Given the description of an element on the screen output the (x, y) to click on. 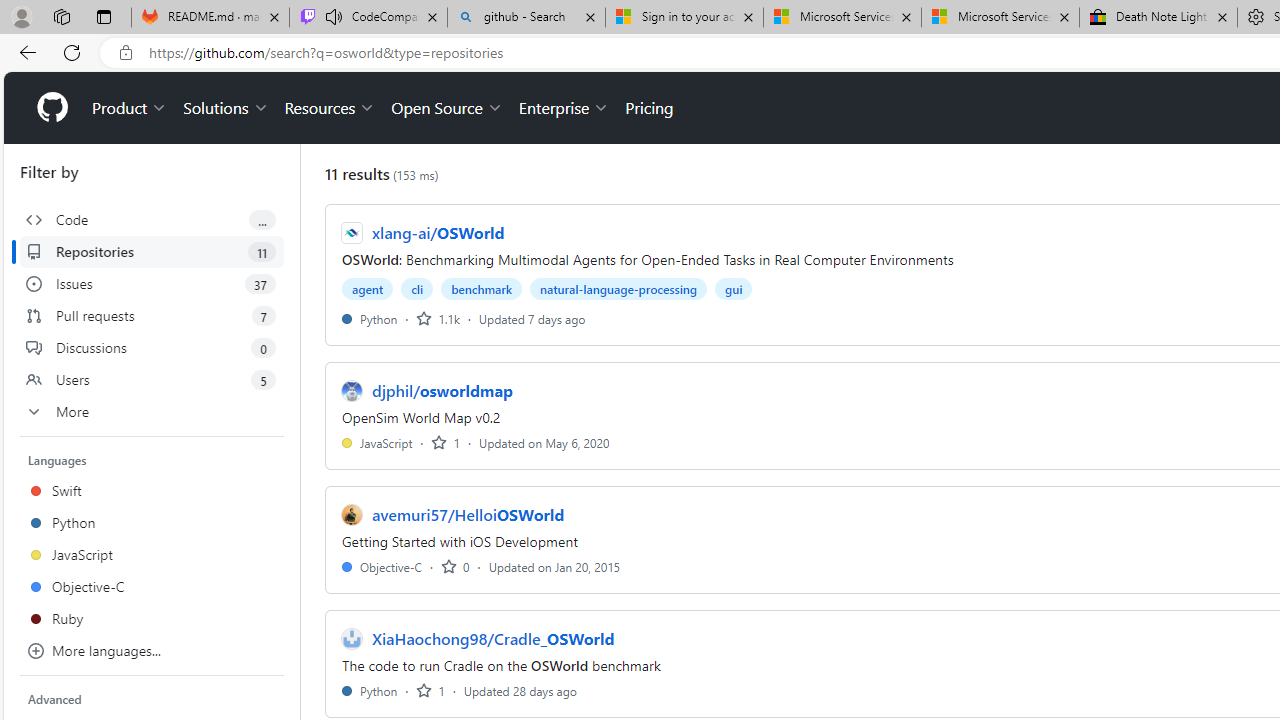
cli (416, 288)
xlang-ai/OSWorld (438, 232)
More languages... (152, 650)
More languages... (152, 650)
Open Source (446, 107)
Objective-C (381, 566)
Resources (330, 107)
1099 stars (437, 318)
Pricing (649, 107)
natural-language-processing (618, 288)
0 stars (455, 566)
Microsoft Services Agreement (1000, 17)
